Given the description of an element on the screen output the (x, y) to click on. 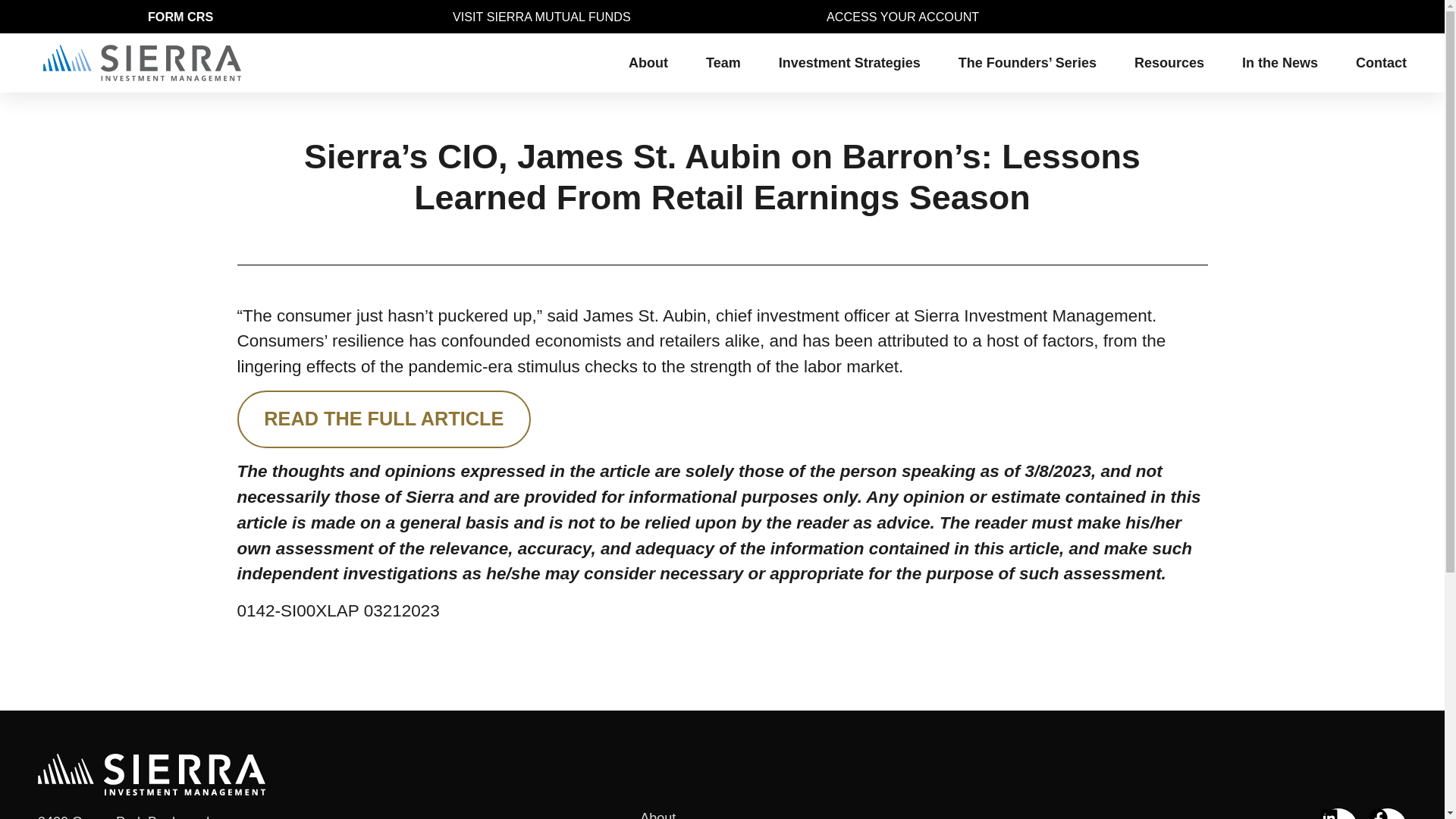
Investment Strategies (849, 62)
Team (723, 62)
About (648, 62)
Resources (1169, 62)
FORM CRS (180, 16)
Contact (1380, 62)
In the News (1279, 62)
